Given the description of an element on the screen output the (x, y) to click on. 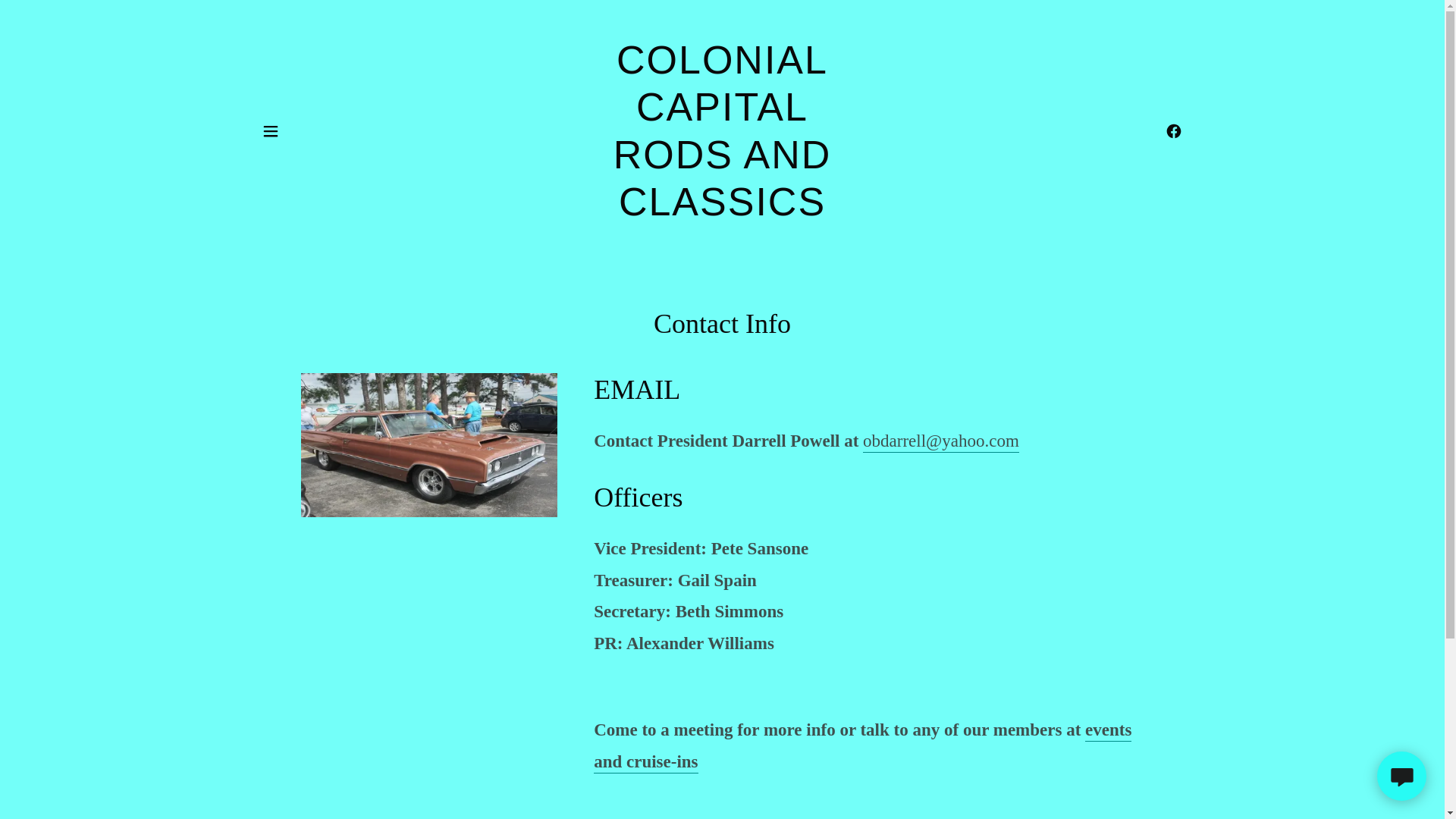
events and cruise-ins (862, 746)
